Given the description of an element on the screen output the (x, y) to click on. 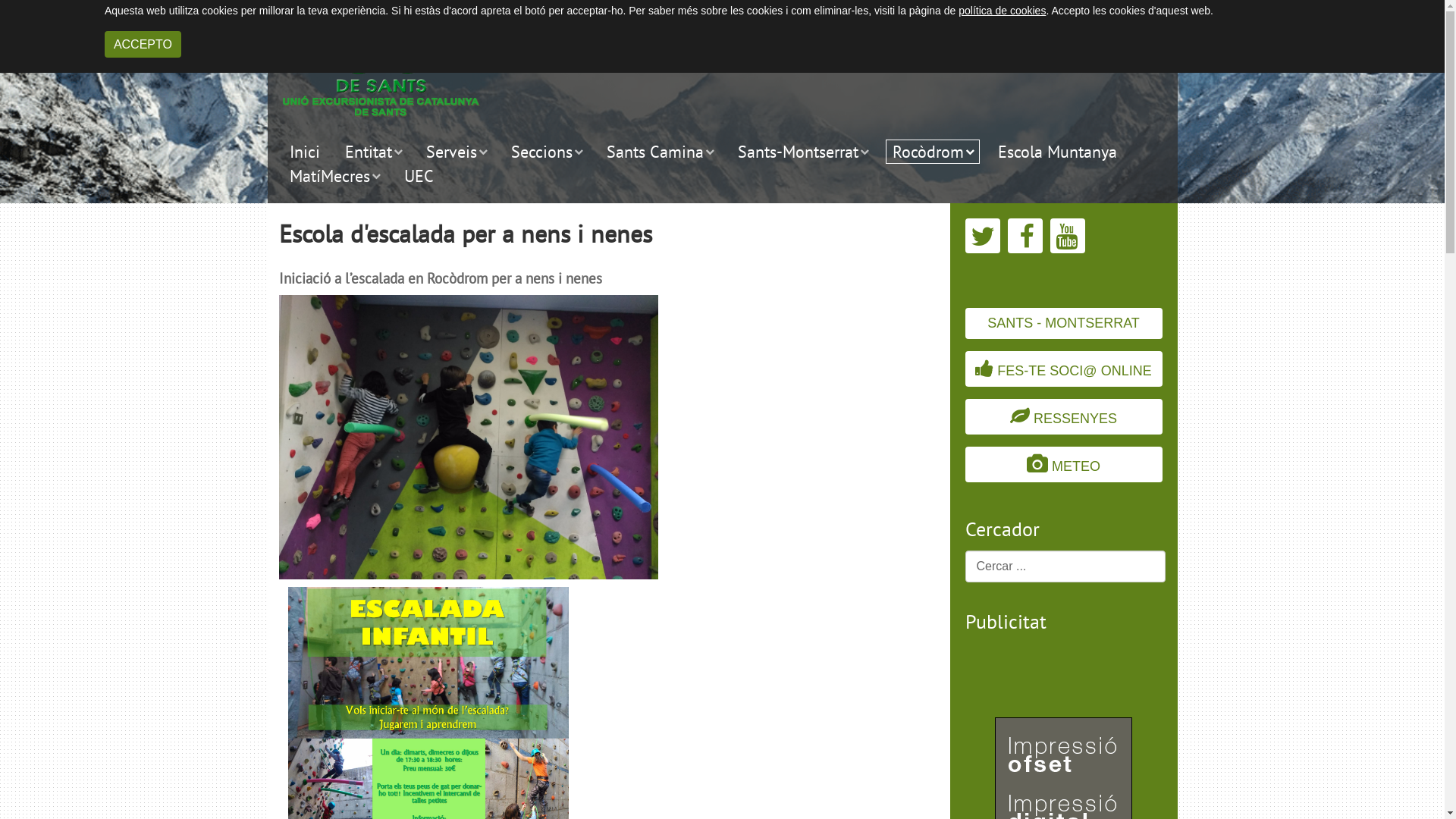
Sants-Montserrat Element type: text (802, 151)
ACCEPTO Element type: text (142, 44)
Seccions Element type: text (545, 151)
SANTS - MONTSERRAT Element type: text (1062, 322)
Escola d'escalada per a nens i nenes Element type: text (465, 233)
Inici Element type: text (304, 151)
Sants Camina Element type: text (658, 151)
 RESSENYES Element type: text (1062, 416)
UEC Element type: text (418, 175)
Entitat Element type: text (372, 151)
METEO Element type: text (1062, 464)
Escola Muntanya Element type: text (1056, 151)
UEC Sants
- Element type: text (380, 61)
Serveis Element type: text (455, 151)
 FES-TE SOCI@ ONLINE Element type: text (1062, 368)
